Given the description of an element on the screen output the (x, y) to click on. 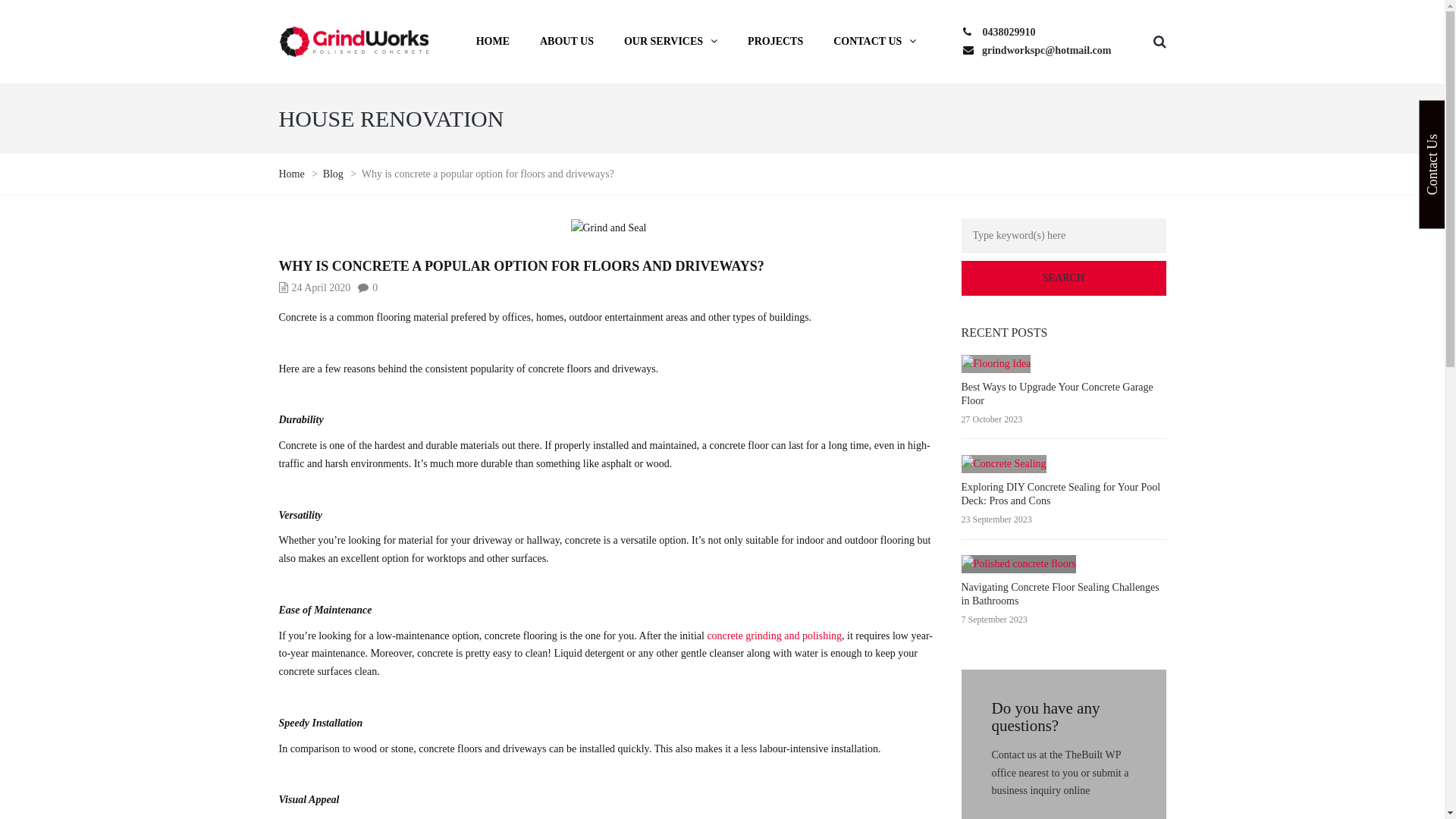
Navigating Concrete Floor Sealing Challenges in Bathrooms Element type: text (1060, 593)
Blog Element type: text (334, 173)
Best Ways to Upgrade Your Concrete Garage Floor Element type: text (1057, 393)
concrete grinding and polishing Element type: text (773, 635)
HOME Element type: text (492, 41)
OUR SERVICES Element type: text (670, 41)
PROJECTS Element type: text (775, 41)
0438029910 Element type: text (1008, 31)
grindworkspc@hotmail.com Element type: text (1046, 50)
Search Element type: text (1063, 277)
CONTACT US Element type: text (874, 41)
ABOUT US Element type: text (566, 41)
Home Element type: text (293, 173)
